Given the description of an element on the screen output the (x, y) to click on. 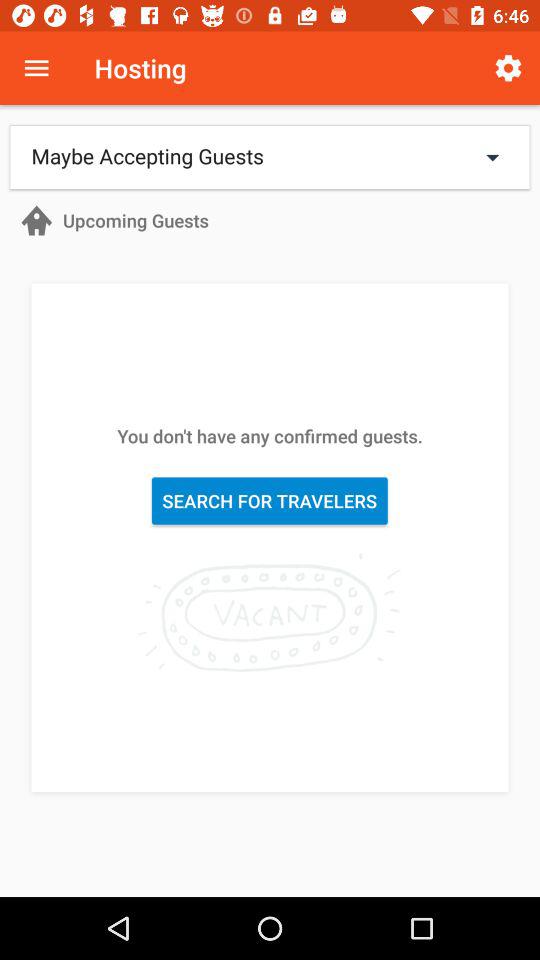
open menu (36, 68)
